Given the description of an element on the screen output the (x, y) to click on. 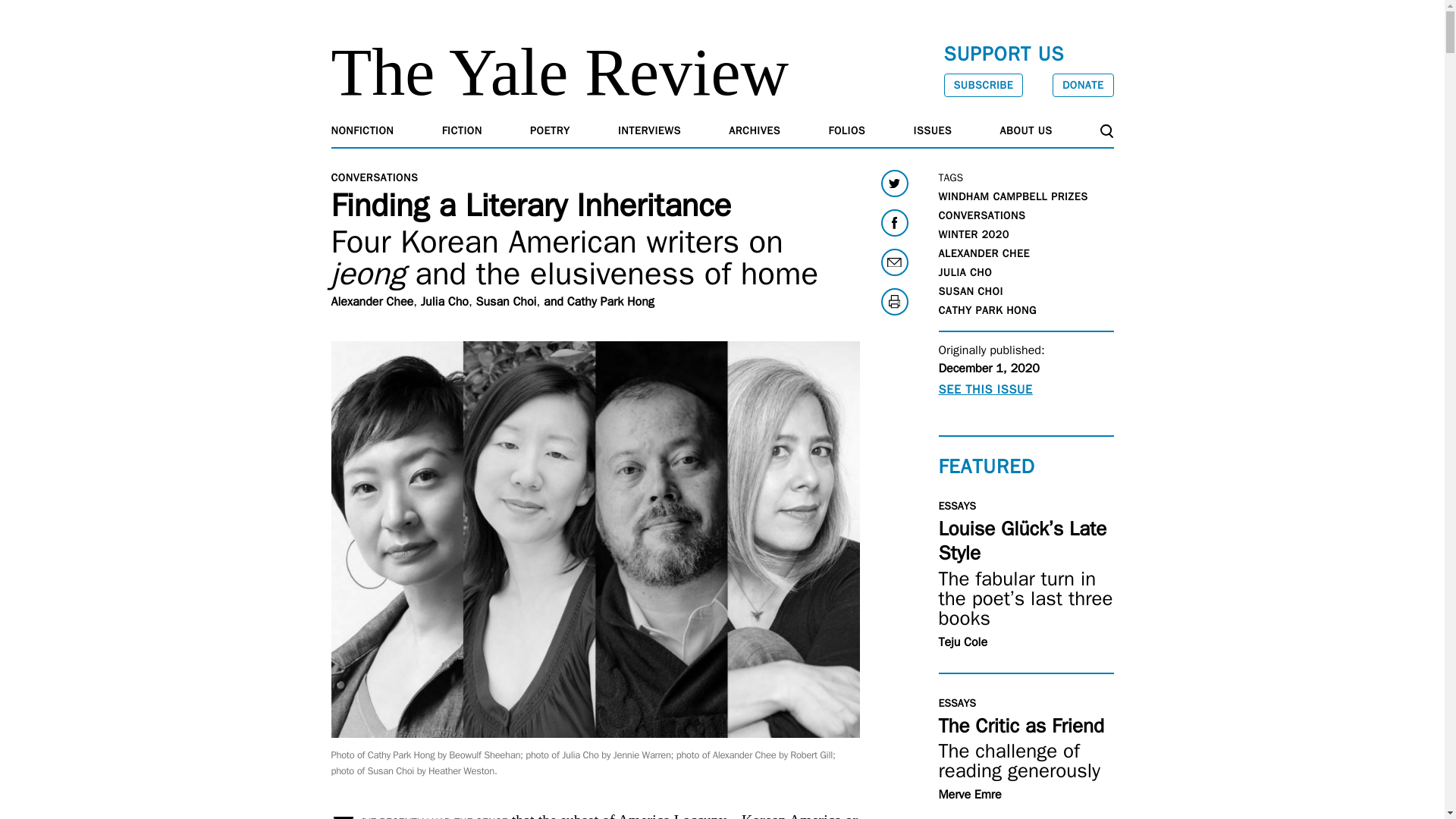
SUBSCRIBE (983, 84)
ARCHIVES (754, 130)
FOLIOS (847, 130)
ISSUES (933, 130)
INTERVIEWS (649, 130)
ABOUT US (1026, 130)
NONFICTION (361, 130)
The Yale Review (559, 72)
FICTION (461, 130)
POETRY (549, 130)
DONATE (1082, 84)
